Given the description of an element on the screen output the (x, y) to click on. 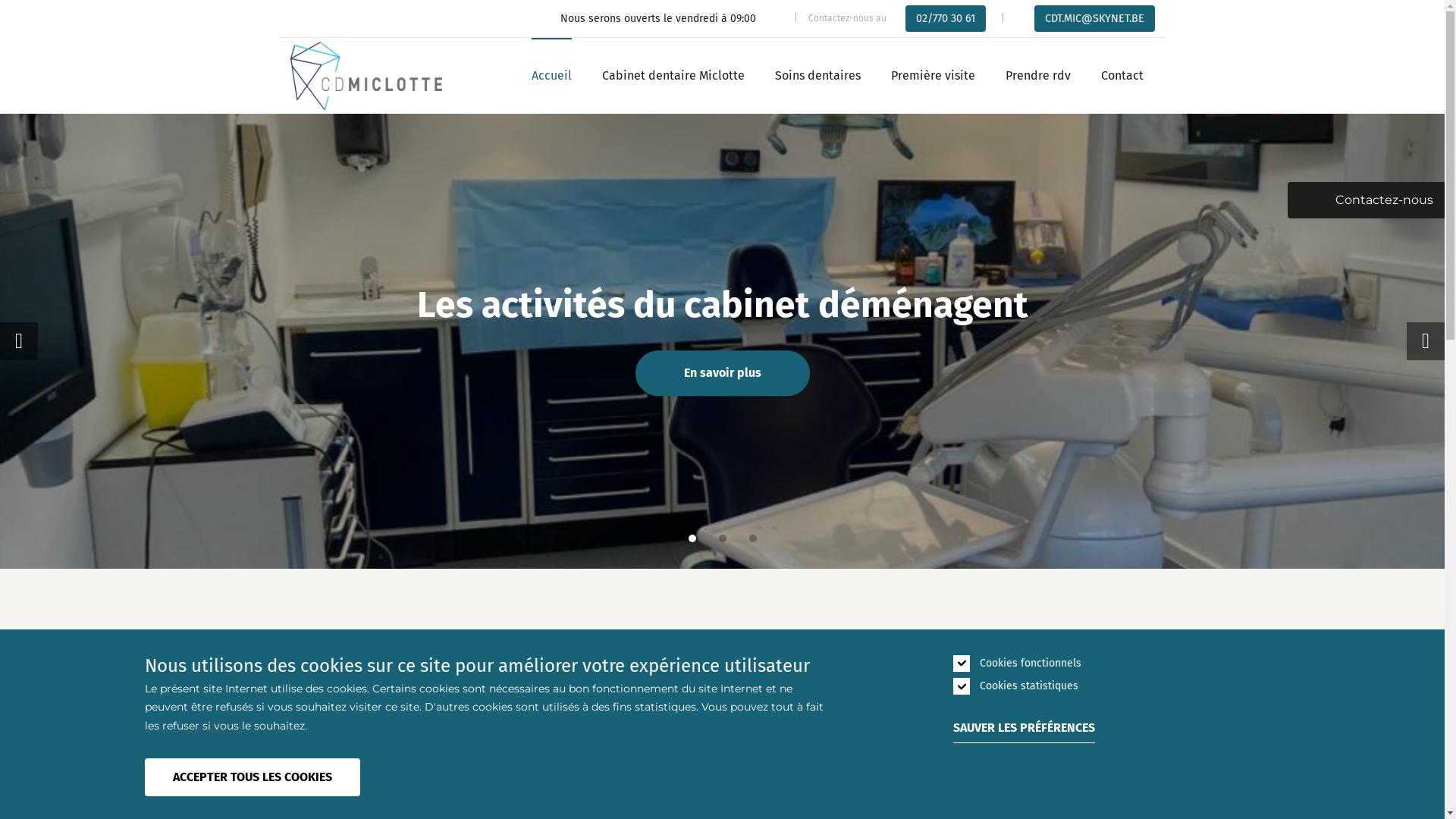
Prendre rdv Element type: text (1037, 75)
Contact Element type: text (1122, 75)
ACCEPTER TOUS LES COOKIES Element type: text (251, 777)
Contactez-nous Element type: text (1365, 200)
02/770 30 61 Element type: text (945, 18)
RETIRER LE CONSENTEMENT Element type: text (387, 769)
En savoir plus Element type: text (722, 373)
Accueil Element type: text (550, 75)
CDT.MIC@SKYNET.BE Element type: text (1094, 18)
